Given the description of an element on the screen output the (x, y) to click on. 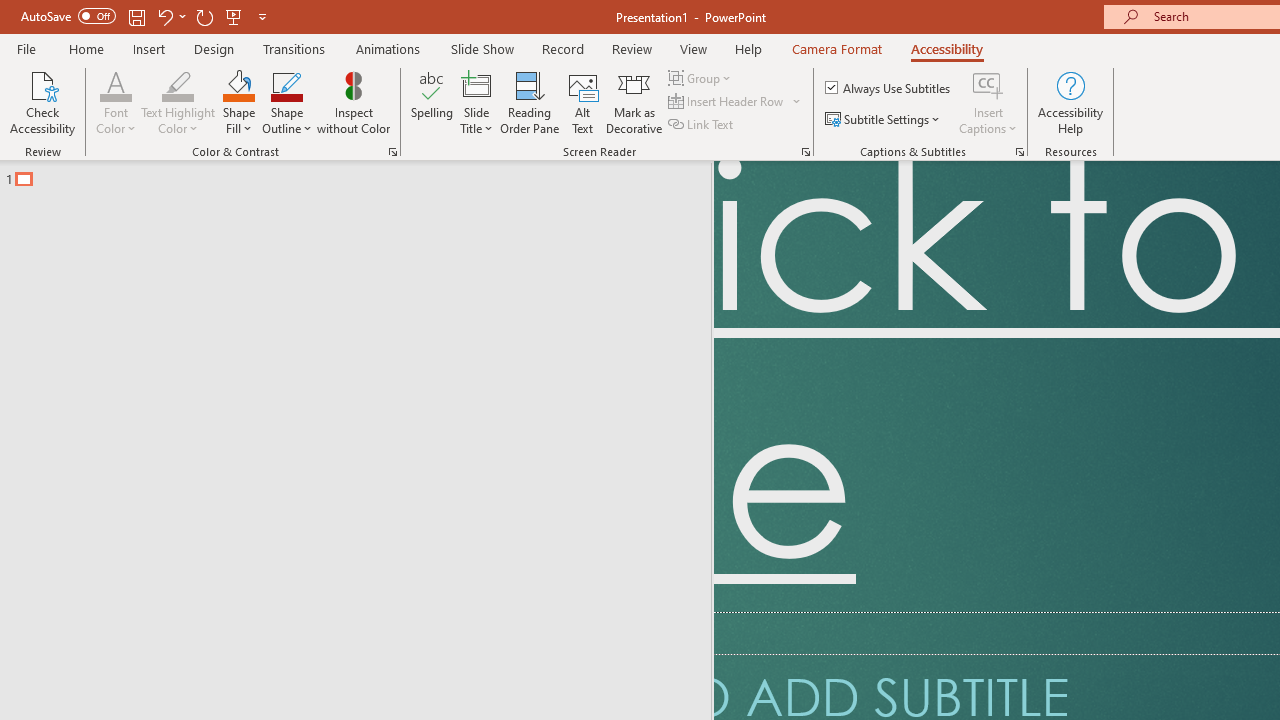
Insert Captions (988, 84)
Outline (364, 174)
Slide Title (476, 102)
Screen Reader (805, 151)
Accessibility Help (1070, 102)
Shape Outline (286, 102)
Color & Contrast (392, 151)
